Given the description of an element on the screen output the (x, y) to click on. 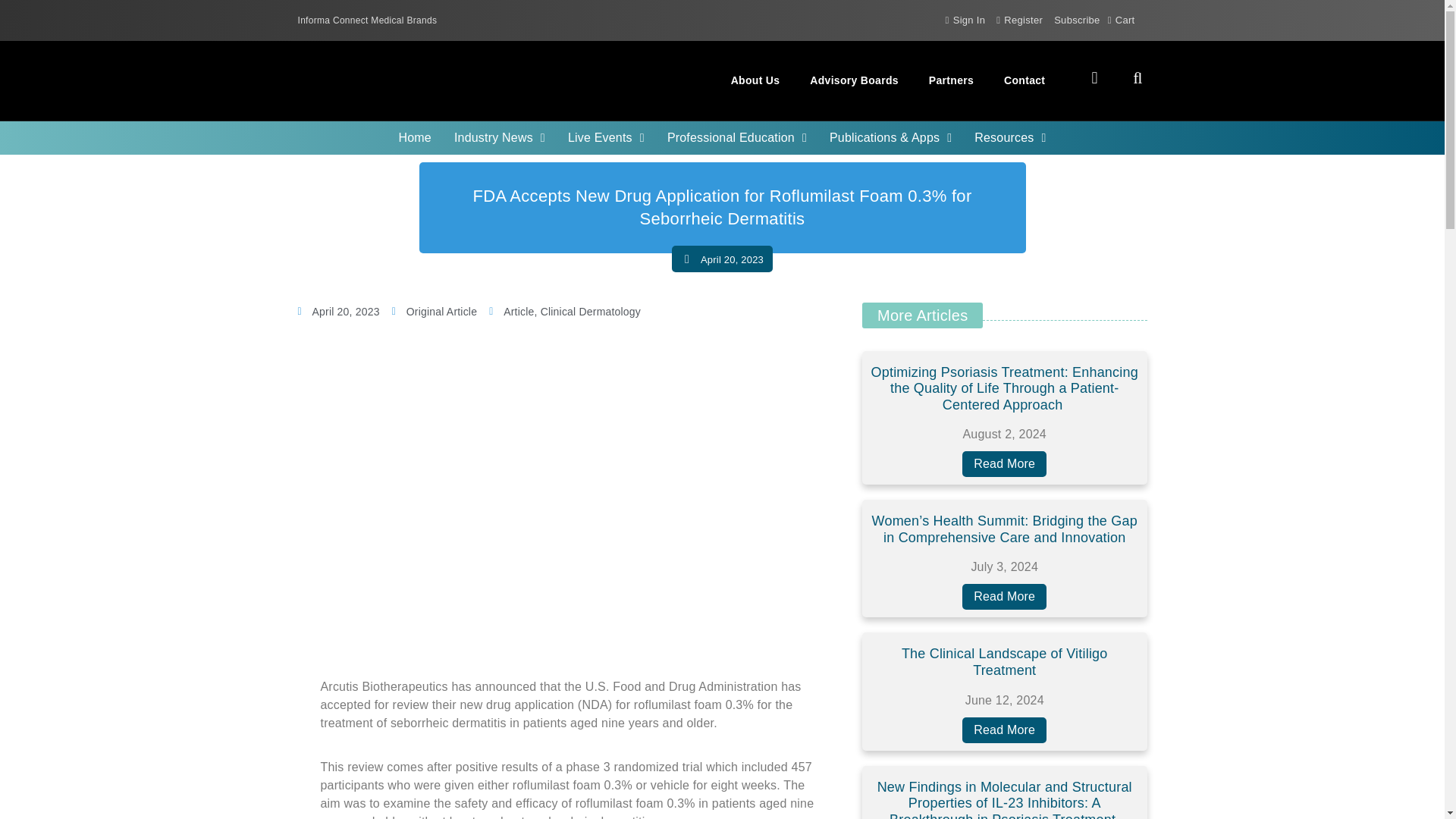
Contact (1023, 80)
Cart (1121, 20)
Register (1018, 20)
About Us (755, 80)
Subscribe (1077, 20)
Home (414, 137)
Partners (951, 80)
Industry News (499, 137)
Informa Connect Medical Brands (366, 20)
Advisory Boards (854, 80)
Sign In (964, 20)
